Given the description of an element on the screen output the (x, y) to click on. 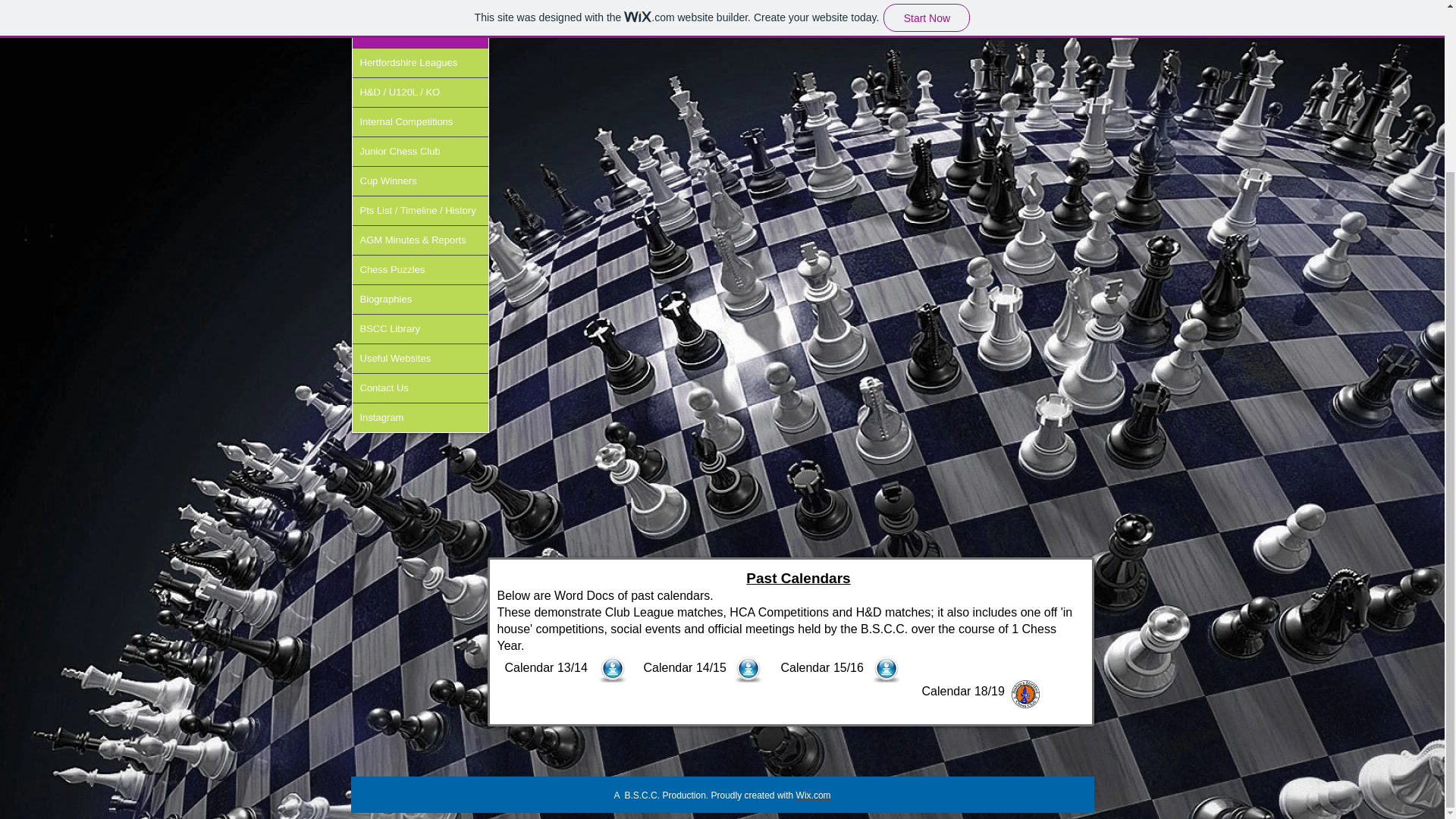
Chess Puzzles (419, 269)
Cup Winners (419, 181)
BSCC Library (419, 328)
Useful Websites (419, 358)
Contact Us (419, 387)
Calendar (419, 32)
Instagram (419, 417)
Hertfordshire Leagues (419, 62)
Internal Competitions (419, 121)
Biographies (419, 299)
Wix.com (813, 795)
Junior Chess Club (419, 151)
General Information (419, 9)
